Given the description of an element on the screen output the (x, y) to click on. 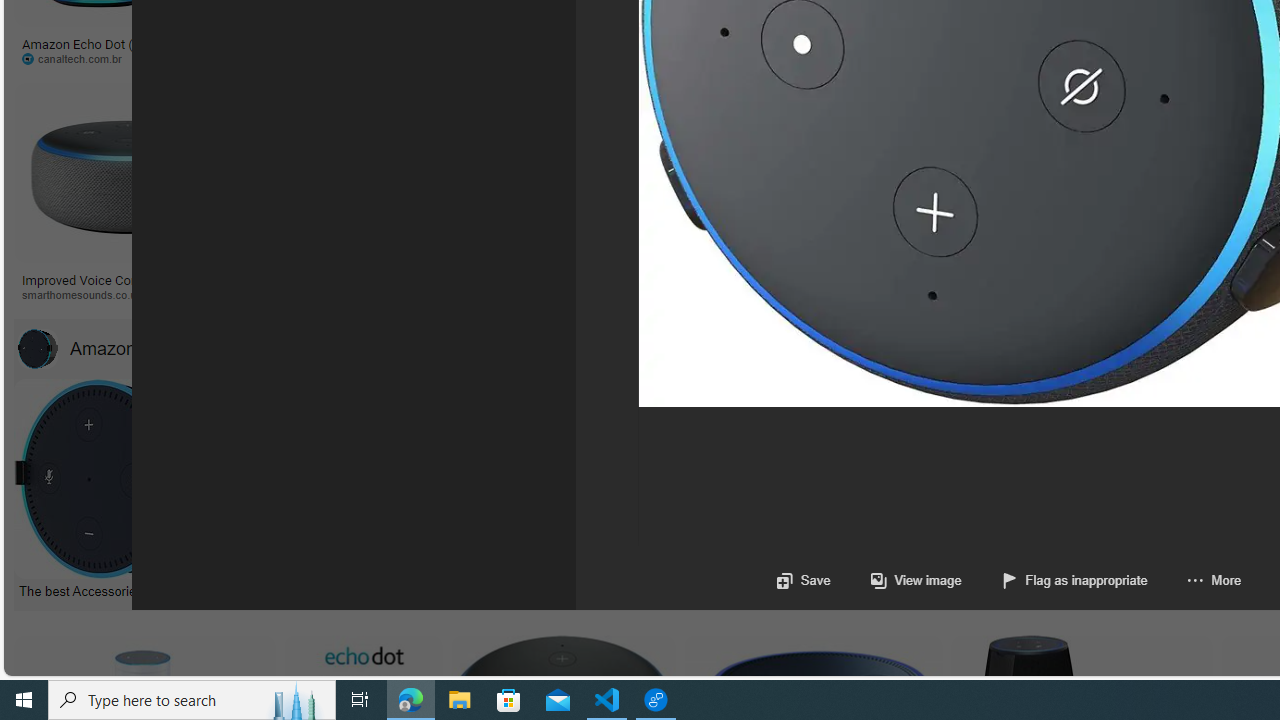
pricehistoryapp.com (486, 57)
buynow.com.ec (1058, 57)
mediamarkt.es (1124, 294)
smarthomesounds.co.uk (128, 295)
smarthomesounds.co.uk (88, 294)
Improved Voice Control with Sonos & Alexa Echo devices (128, 286)
Amazon Echo Dot Accessories (37, 348)
